Given the description of an element on the screen output the (x, y) to click on. 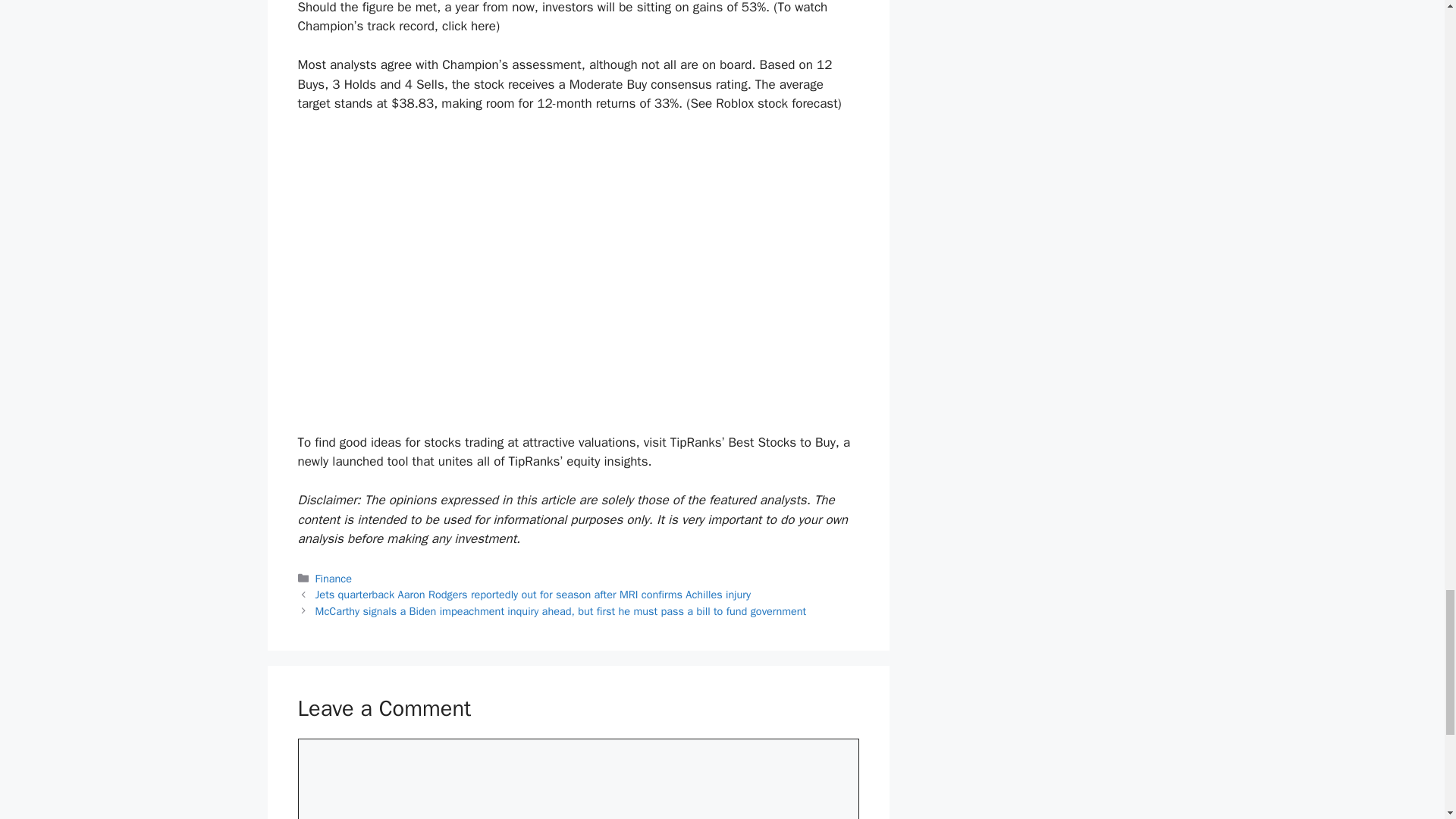
Finance (333, 578)
